Given the description of an element on the screen output the (x, y) to click on. 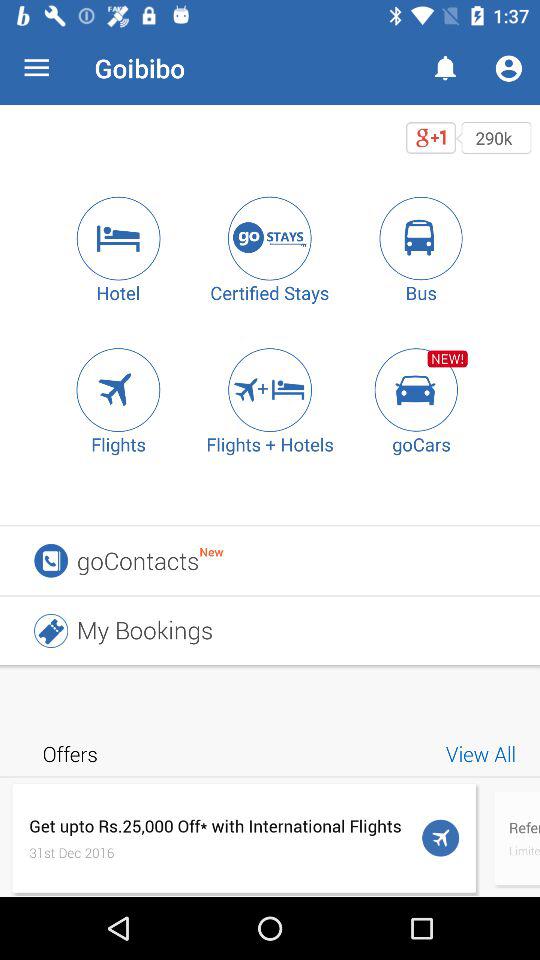
turn on the view all (483, 753)
